Given the description of an element on the screen output the (x, y) to click on. 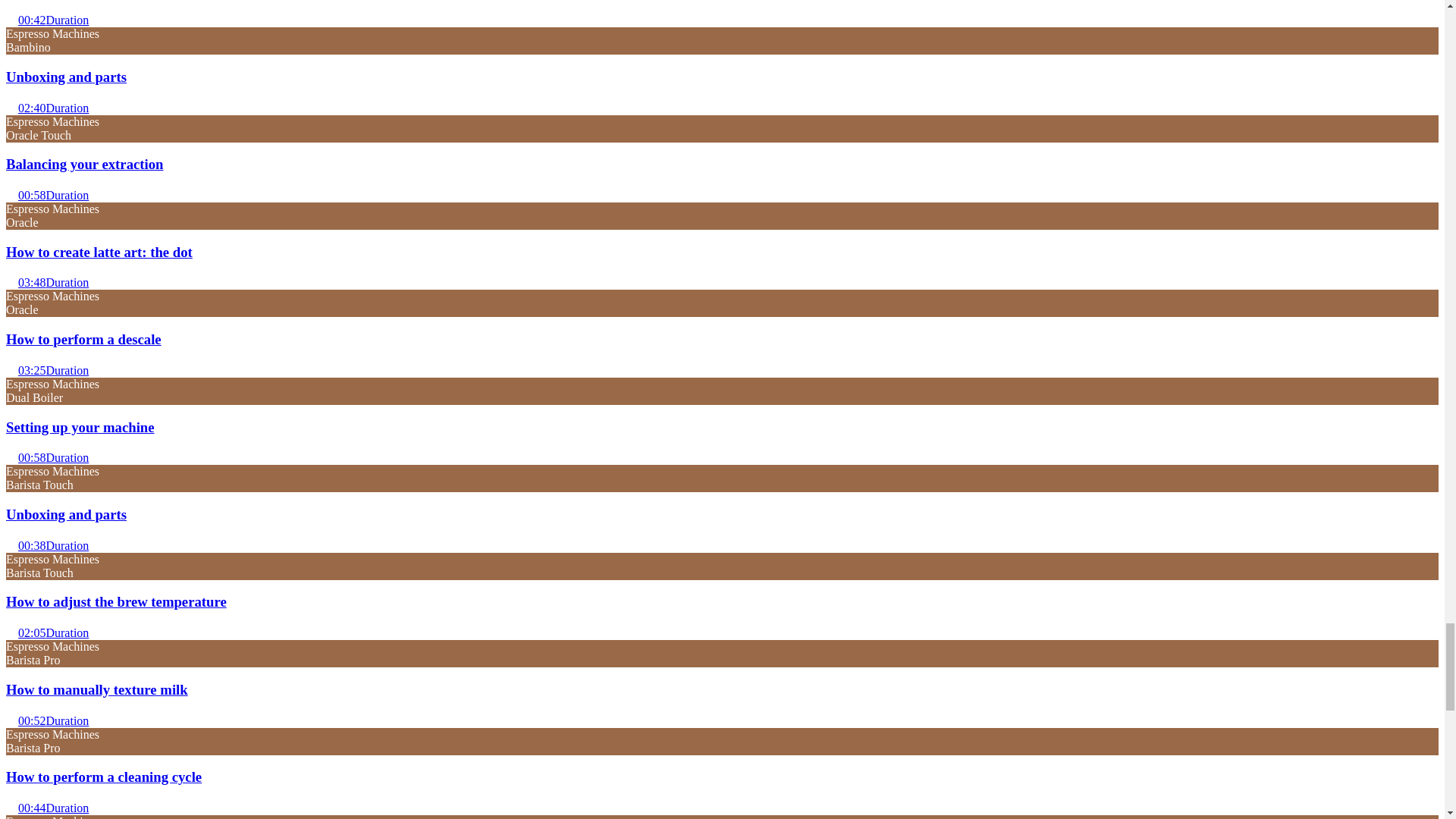
watch video (11, 455)
watch video (11, 630)
watch video (11, 280)
watch video (11, 105)
watch video (11, 18)
watch video (11, 543)
watch video (11, 368)
watch video (11, 193)
watch video (11, 718)
watch video (11, 806)
